Given the description of an element on the screen output the (x, y) to click on. 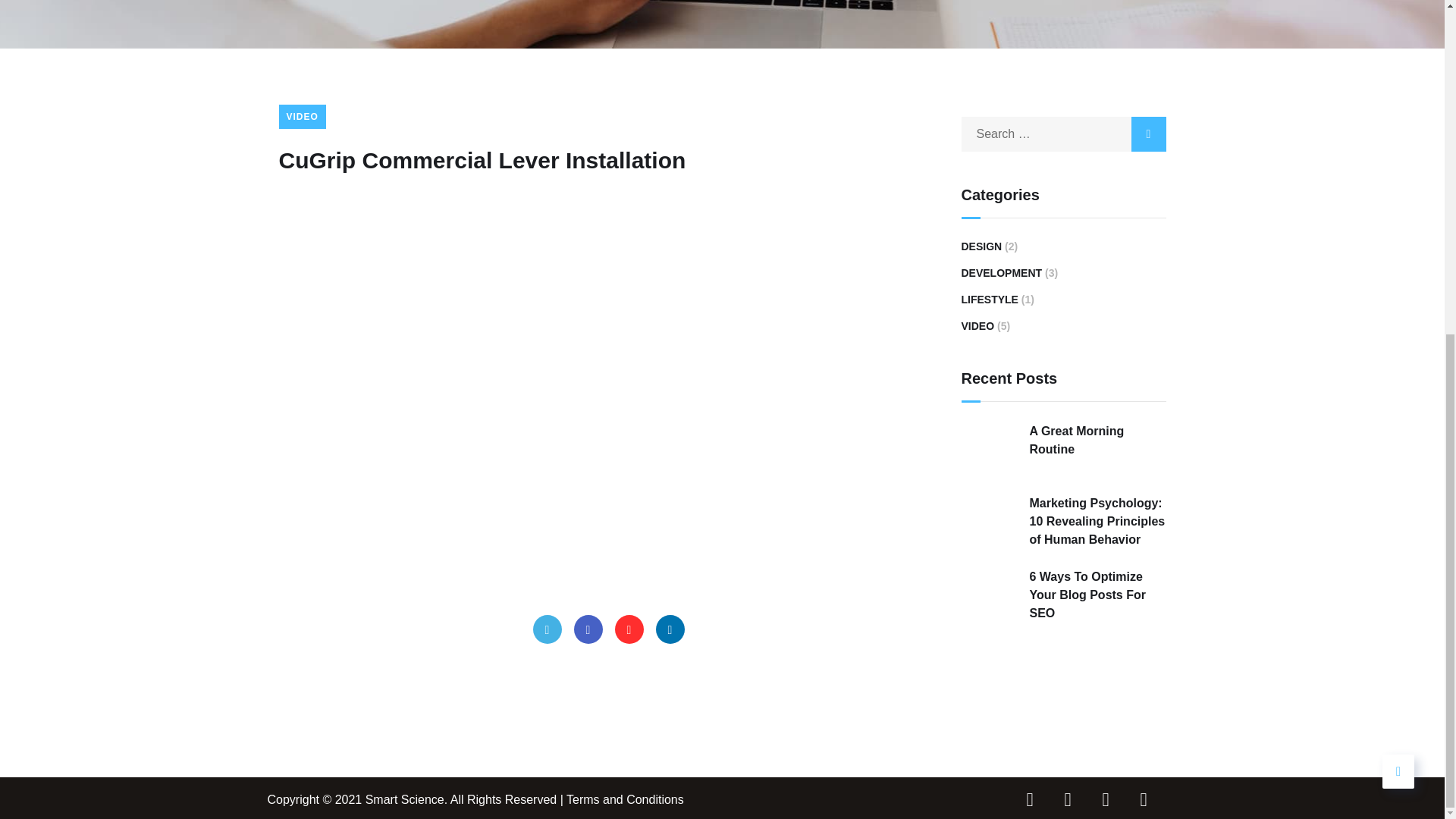
VIDEO (302, 116)
Pinterest (628, 629)
DEVELOPMENT (1001, 272)
Facebook (587, 629)
LinkedIn (669, 629)
VIDEO (977, 325)
DESIGN (981, 246)
LIFESTYLE (988, 299)
A Great Morning Routine (1063, 440)
Twitter (546, 629)
